Given the description of an element on the screen output the (x, y) to click on. 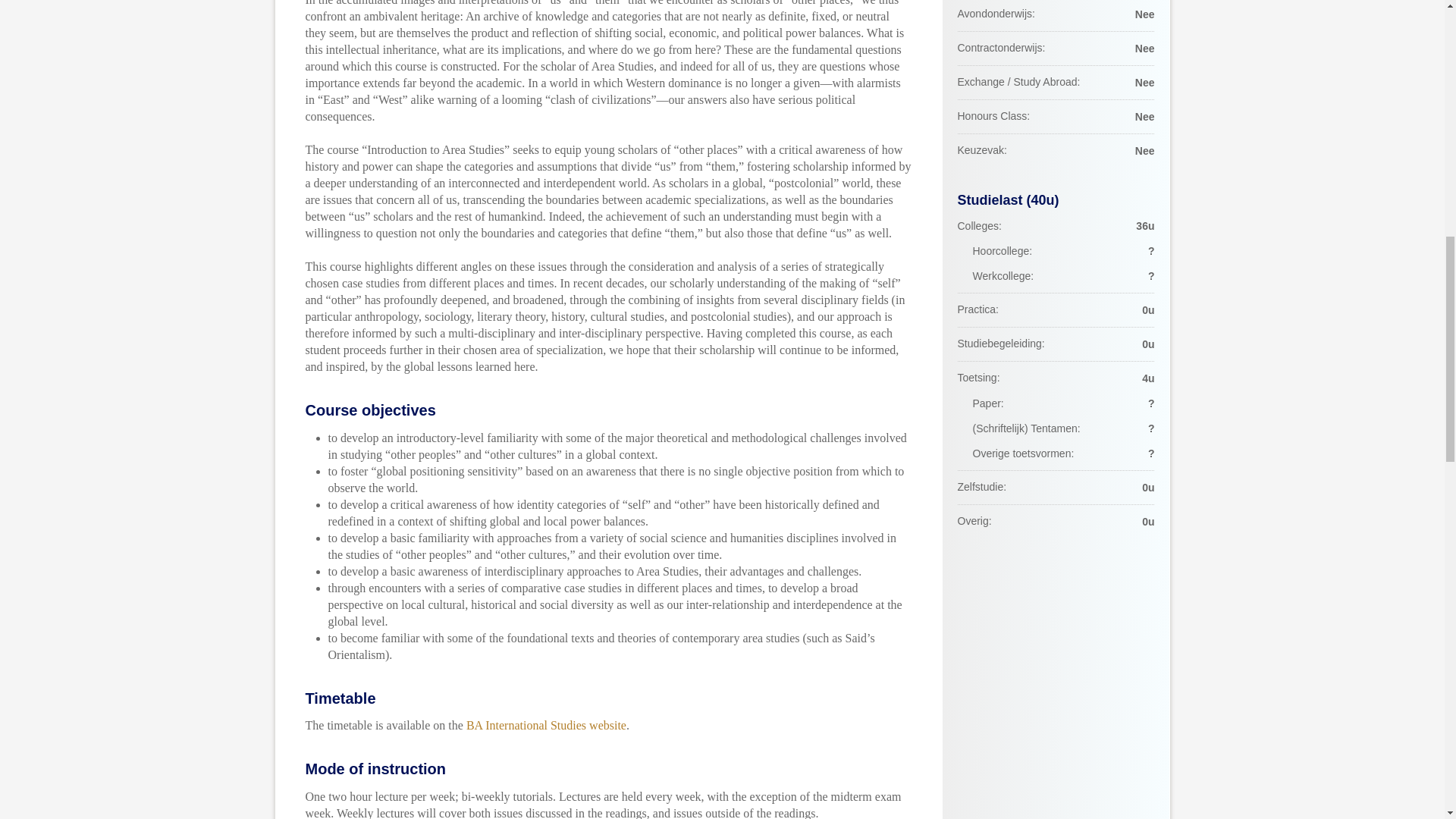
BA International Studies website (545, 725)
